Given the description of an element on the screen output the (x, y) to click on. 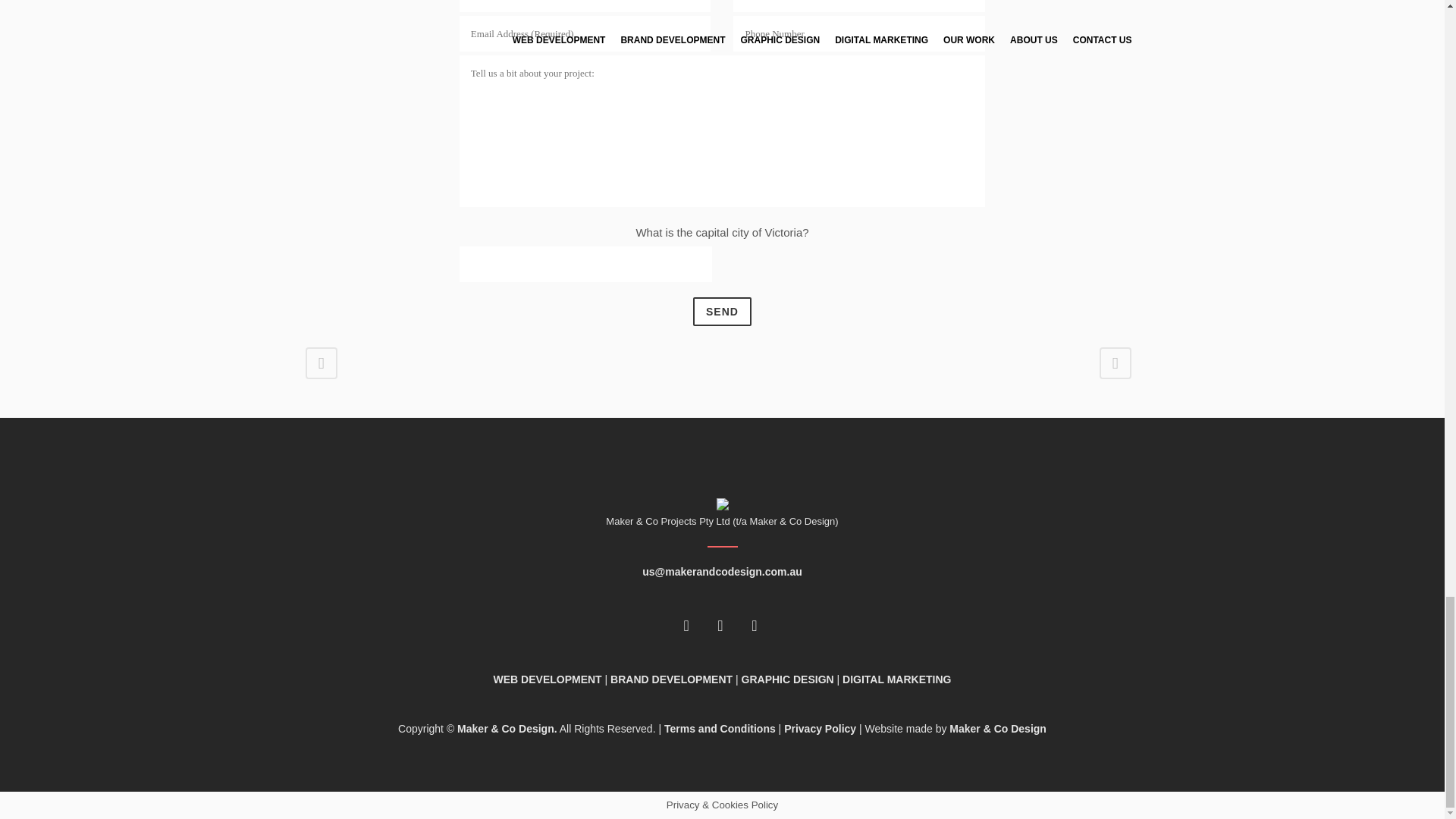
Send (722, 311)
Send (722, 311)
